Given the description of an element on the screen output the (x, y) to click on. 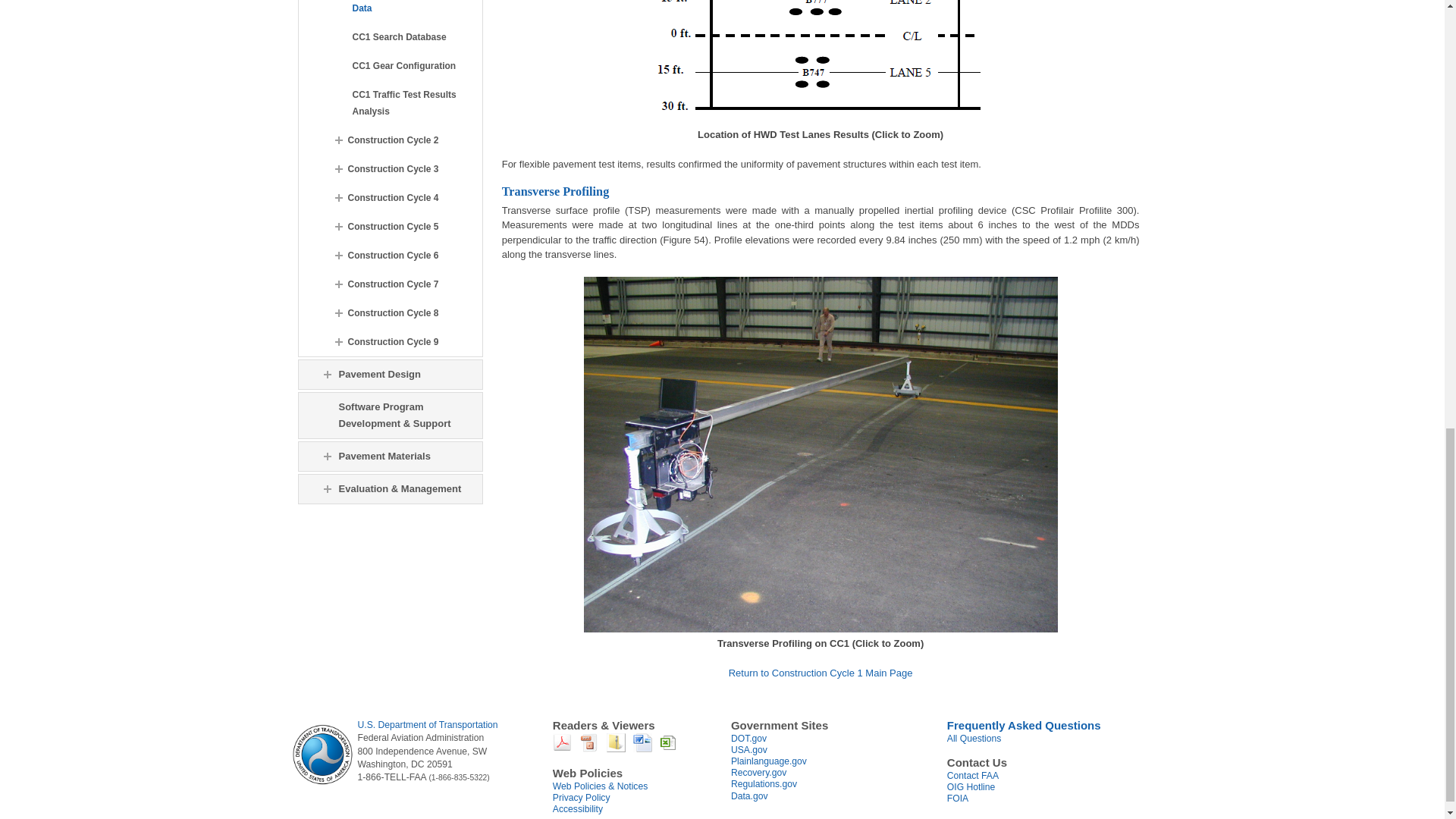
Word (642, 748)
PowerPoint (588, 748)
PDF (562, 748)
Excel (668, 748)
